Given the description of an element on the screen output the (x, y) to click on. 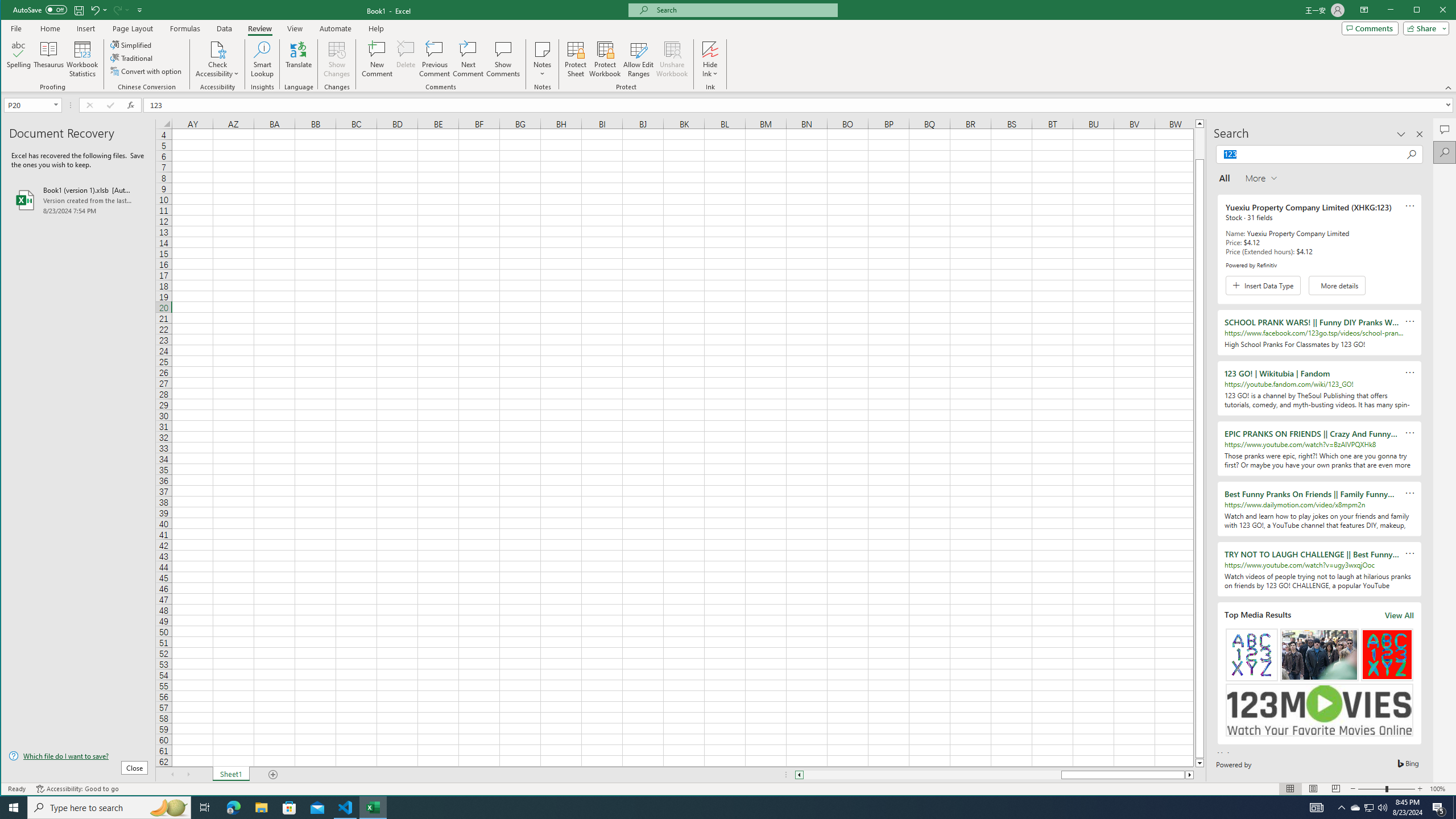
Which file do I want to save? (78, 755)
Search highlights icon opens search home window (167, 807)
Zoom In (1420, 788)
Quick Access Toolbar (79, 9)
Simplified (132, 44)
Type here to search (108, 807)
Page Layout (132, 28)
Spelling... (18, 59)
Scroll Left (172, 774)
Save (79, 9)
Comments (1444, 128)
Check Accessibility (217, 48)
User Promoted Notification Area (1368, 807)
